Given the description of an element on the screen output the (x, y) to click on. 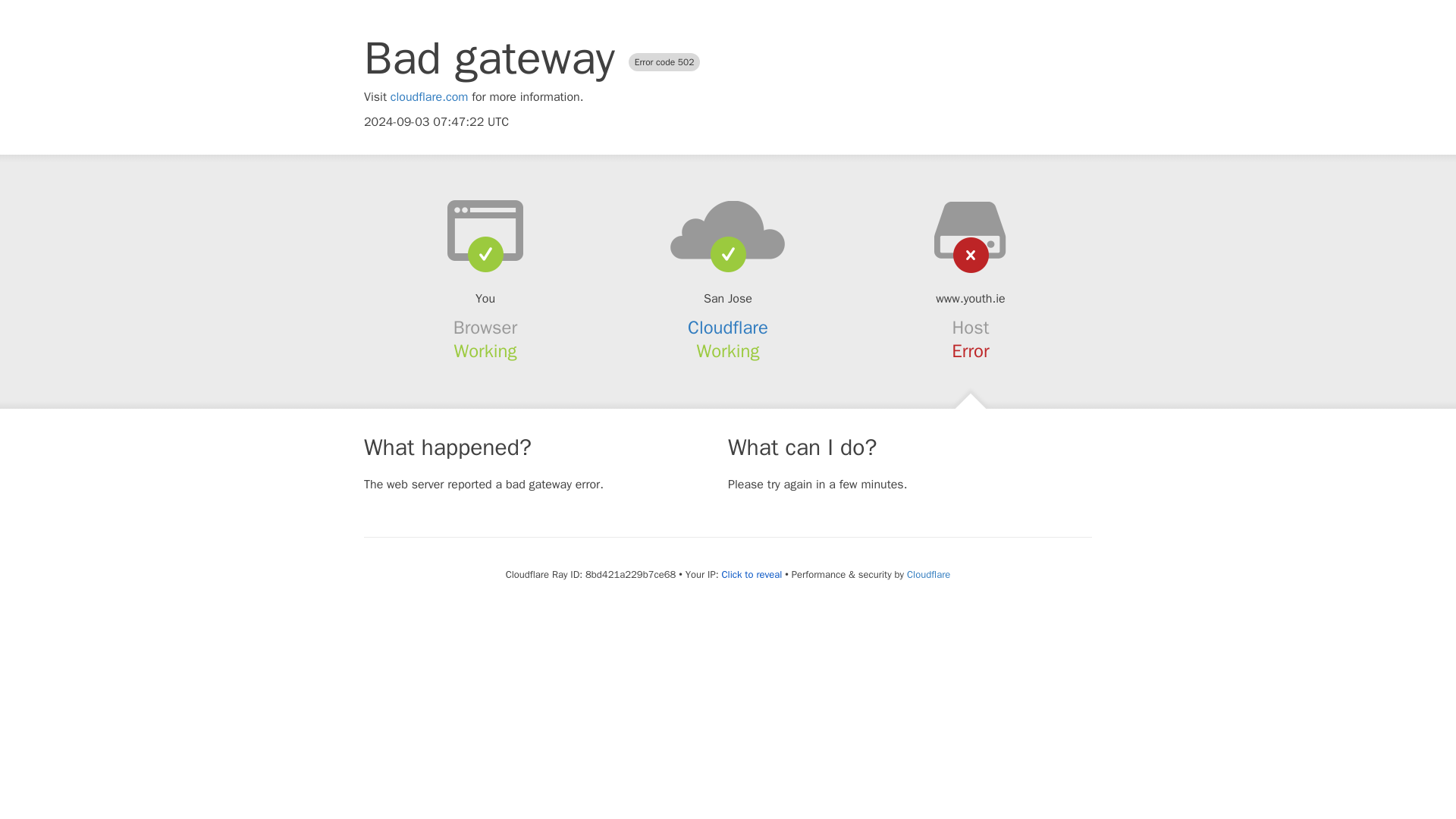
cloudflare.com (429, 96)
Cloudflare (727, 327)
Click to reveal (750, 574)
Cloudflare (928, 574)
